Given the description of an element on the screen output the (x, y) to click on. 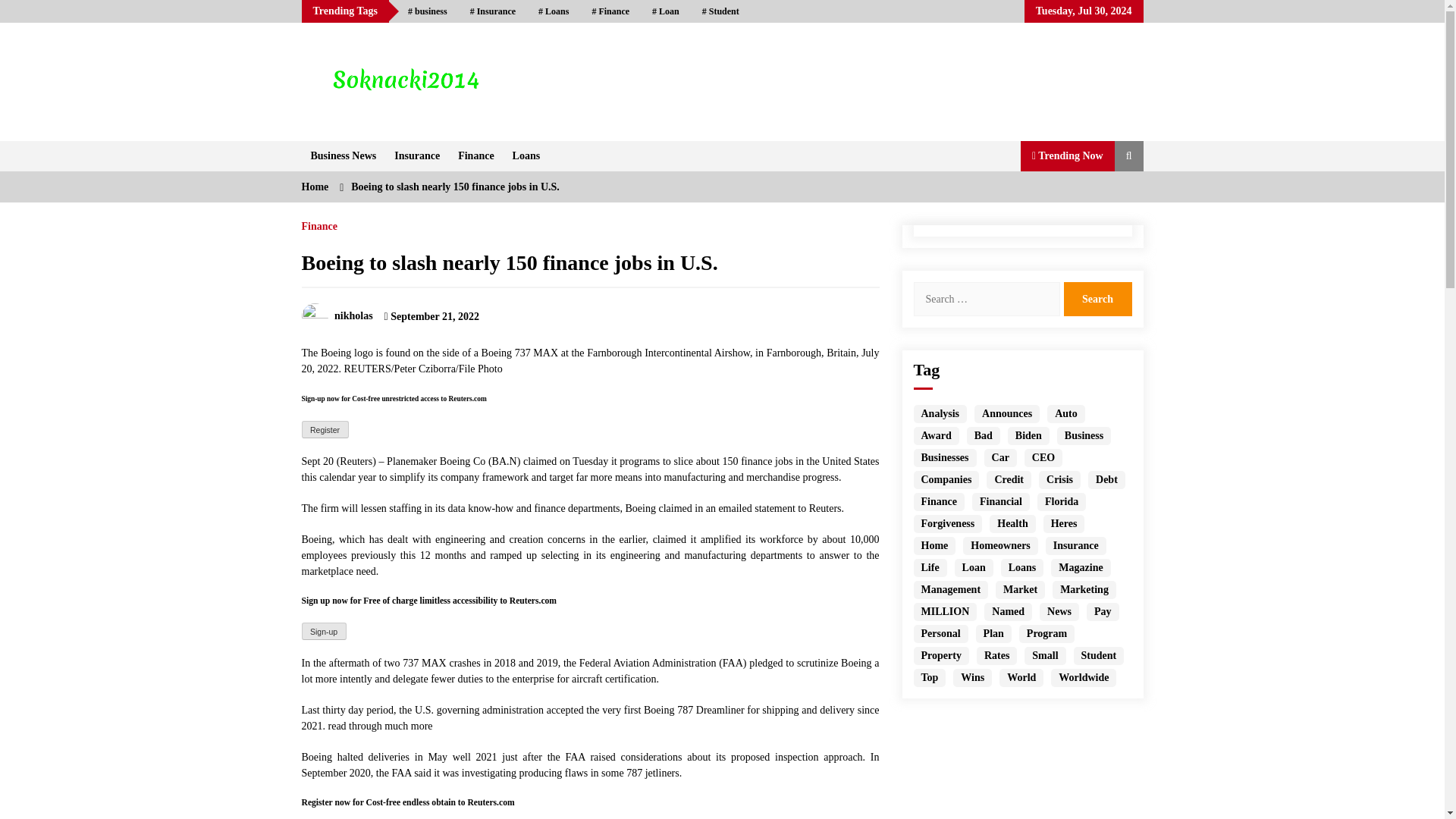
Loans (526, 155)
Search (1096, 298)
Loan (665, 11)
Finance (475, 155)
Loans (553, 11)
Search (1096, 298)
Business News (343, 155)
Student (720, 11)
Finance (609, 11)
Home (315, 186)
Insurance (492, 11)
business (427, 11)
Insurance (416, 155)
